Given the description of an element on the screen output the (x, y) to click on. 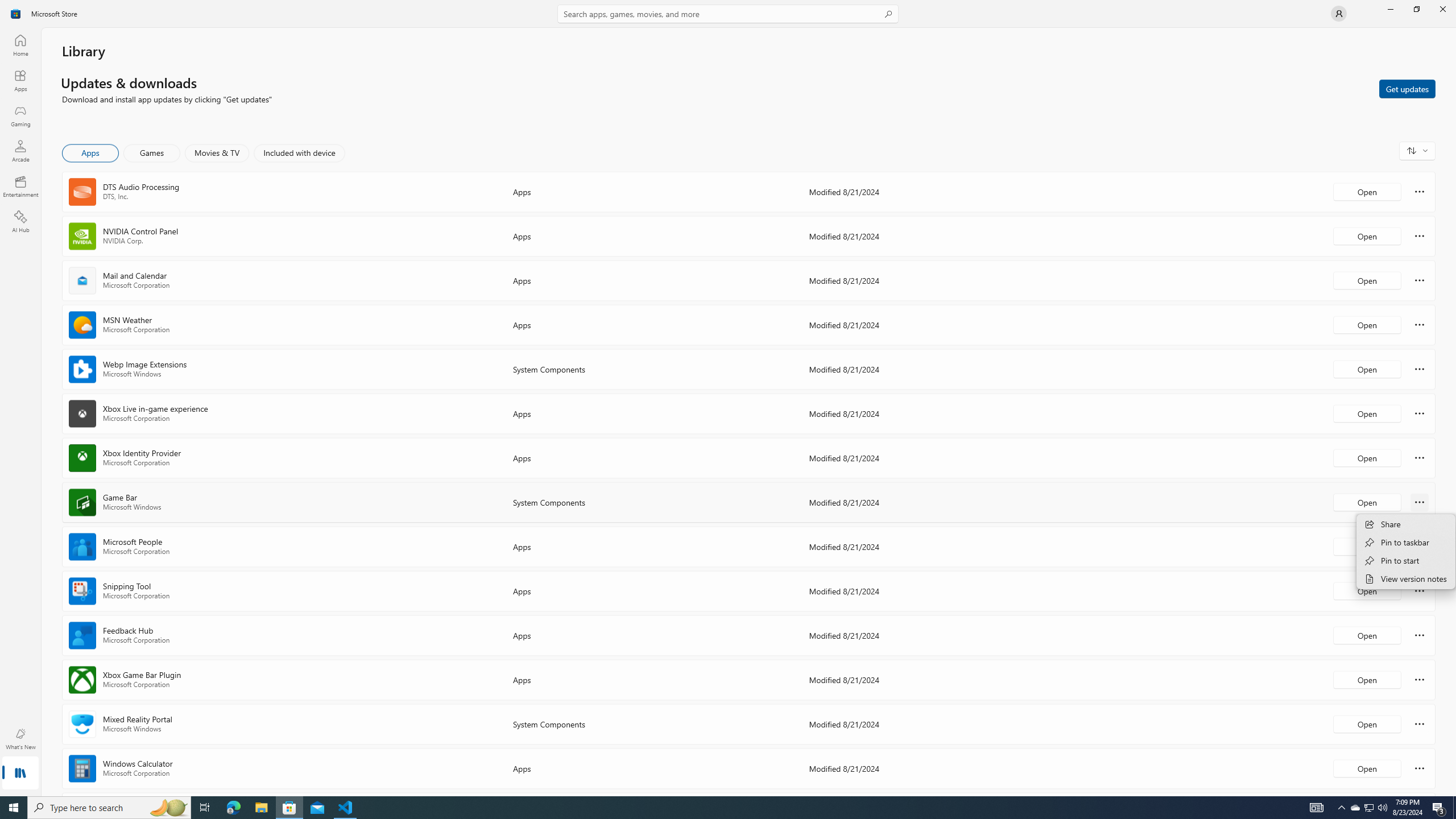
Search (727, 13)
More options (1419, 768)
